Given the description of an element on the screen output the (x, y) to click on. 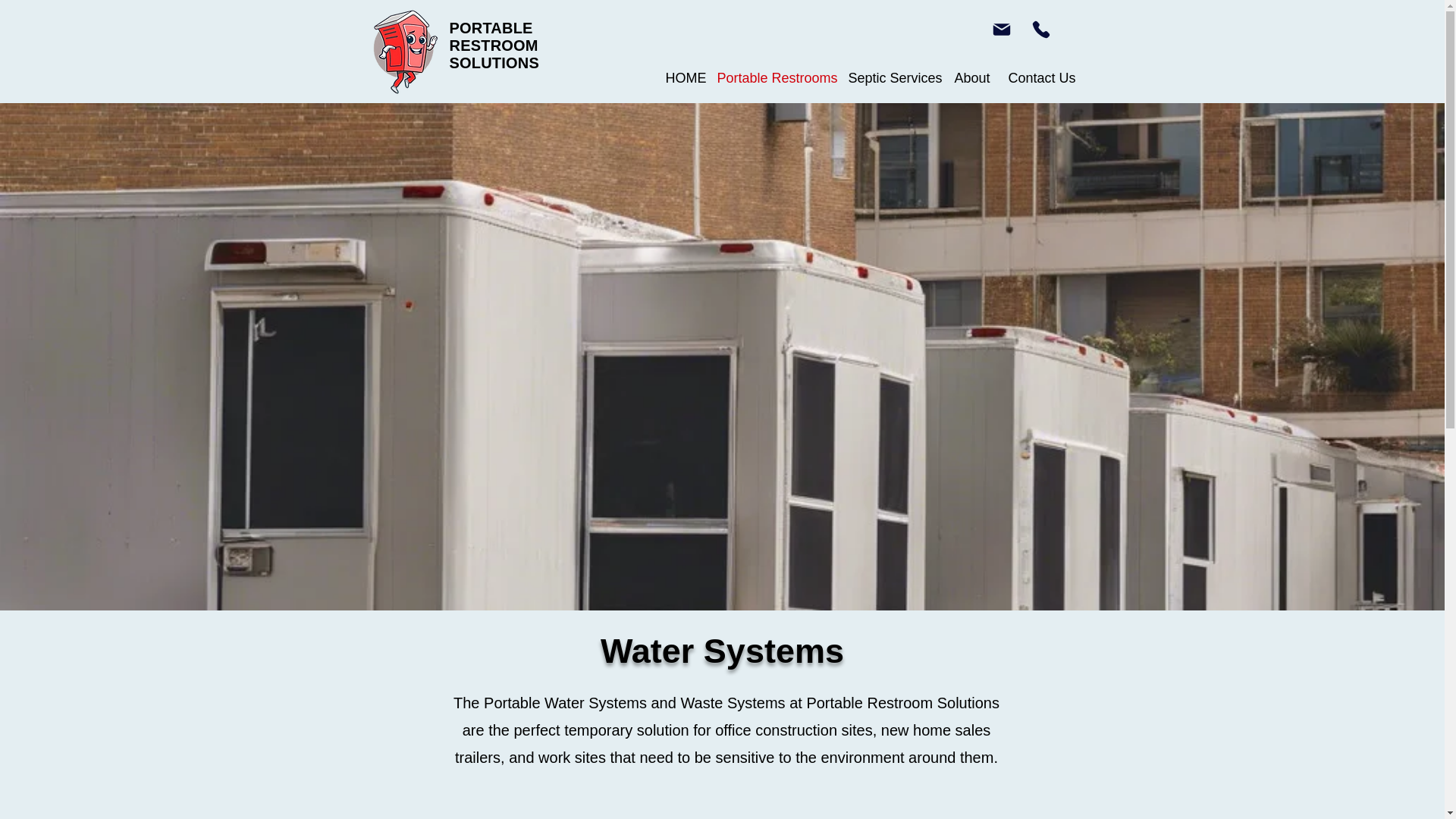
Septic Services (890, 78)
Contact Us (1036, 78)
Portable Restrooms (769, 78)
HOME (678, 78)
About (970, 78)
